Given the description of an element on the screen output the (x, y) to click on. 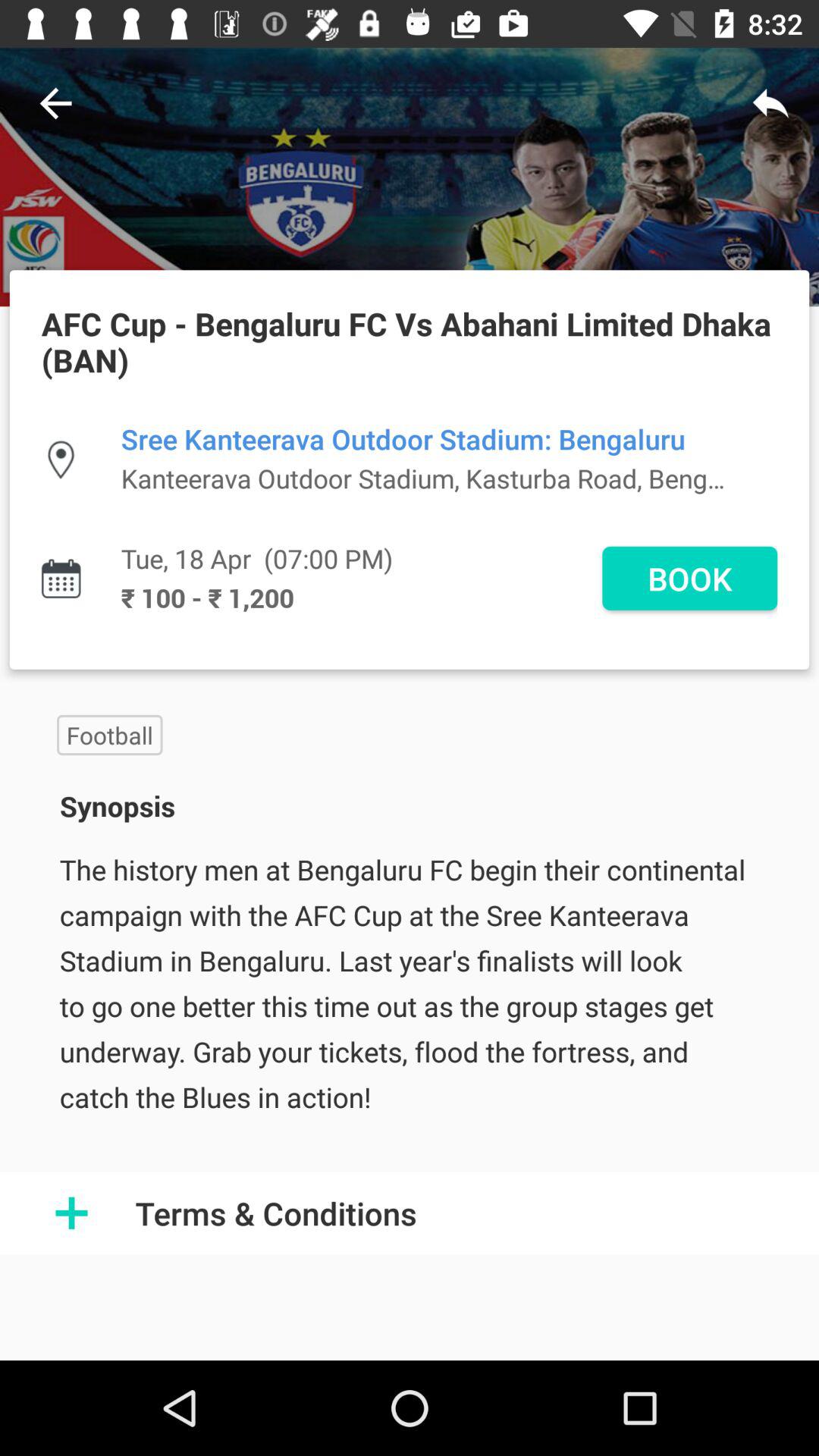
select a book button on a page (689, 578)
